Given the description of an element on the screen output the (x, y) to click on. 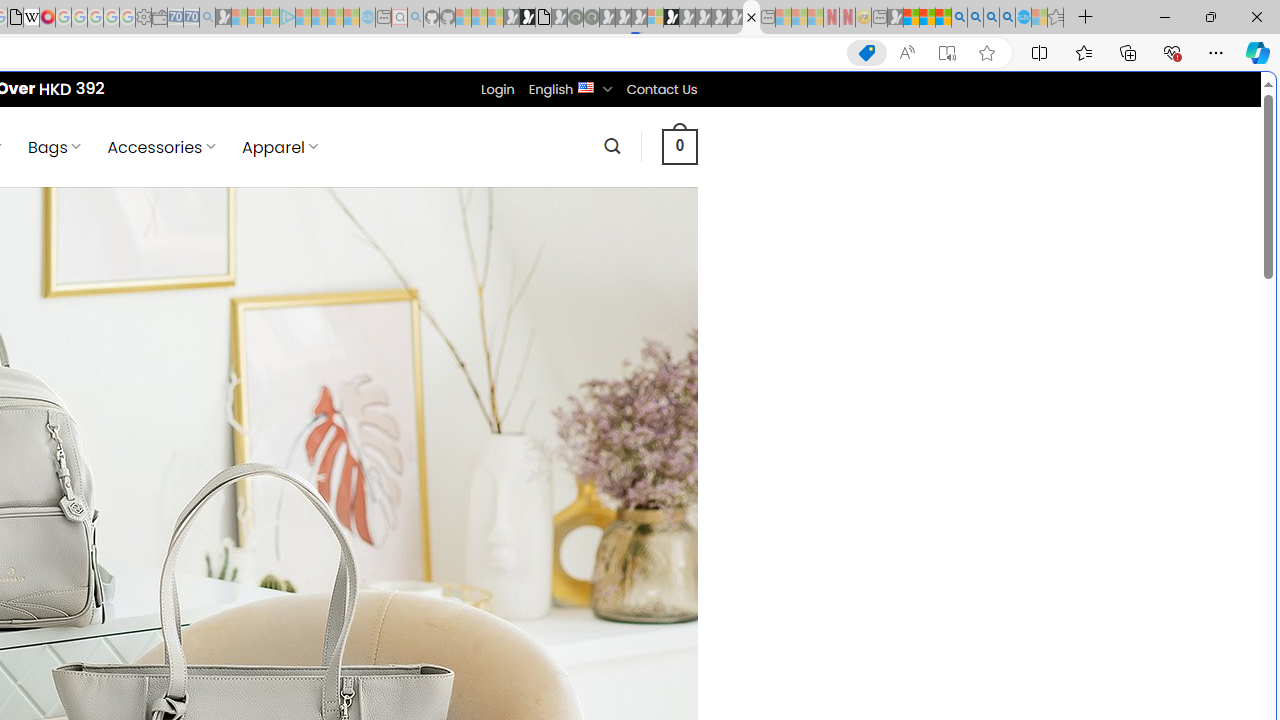
Nordace - Pollina Vegan Leather Collection (751, 17)
This site has coupons! Shopping in Microsoft Edge, 4 (867, 53)
github - Search - Sleeping (415, 17)
